Given the description of an element on the screen output the (x, y) to click on. 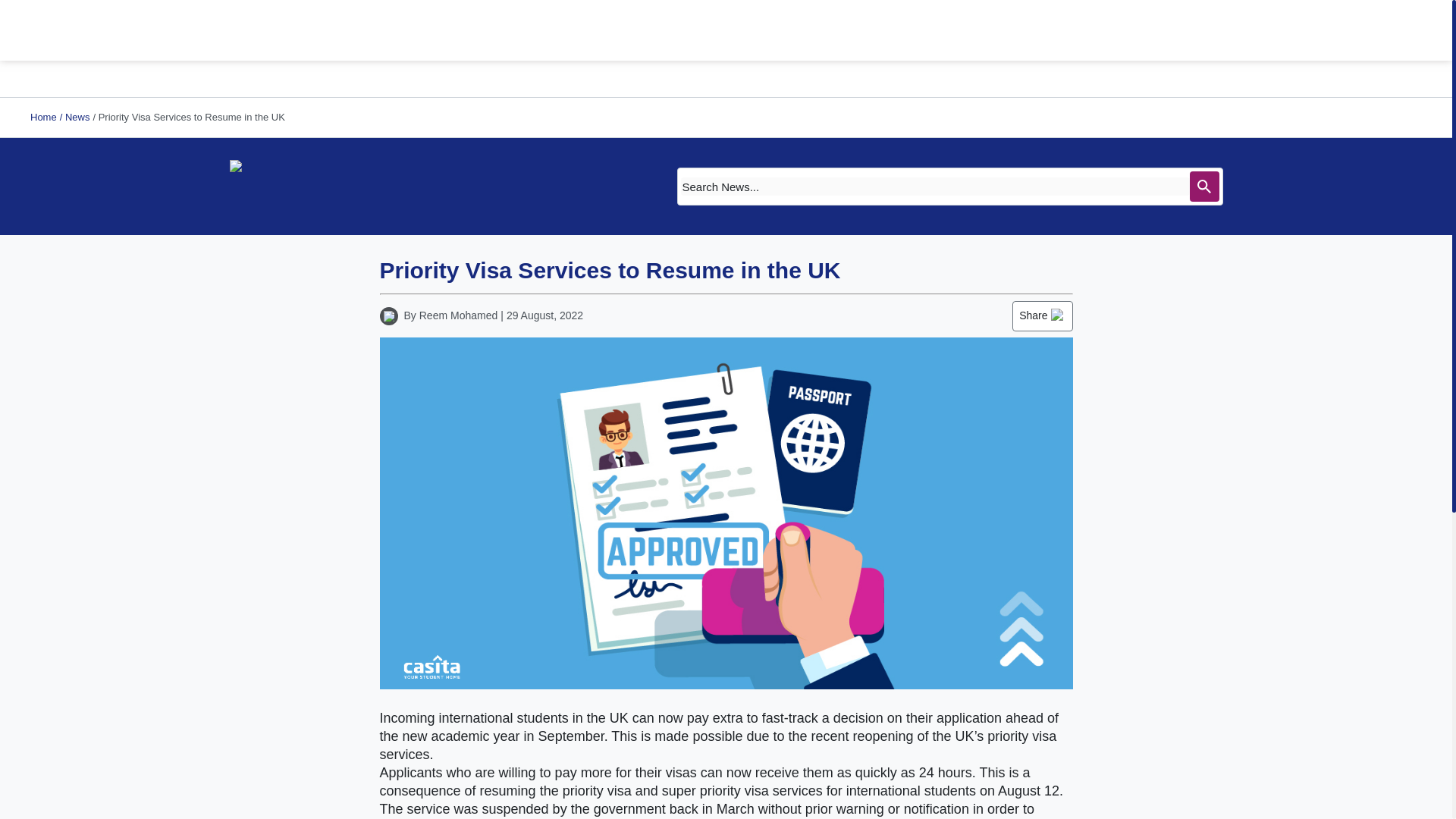
Home (43, 116)
